Given the description of an element on the screen output the (x, y) to click on. 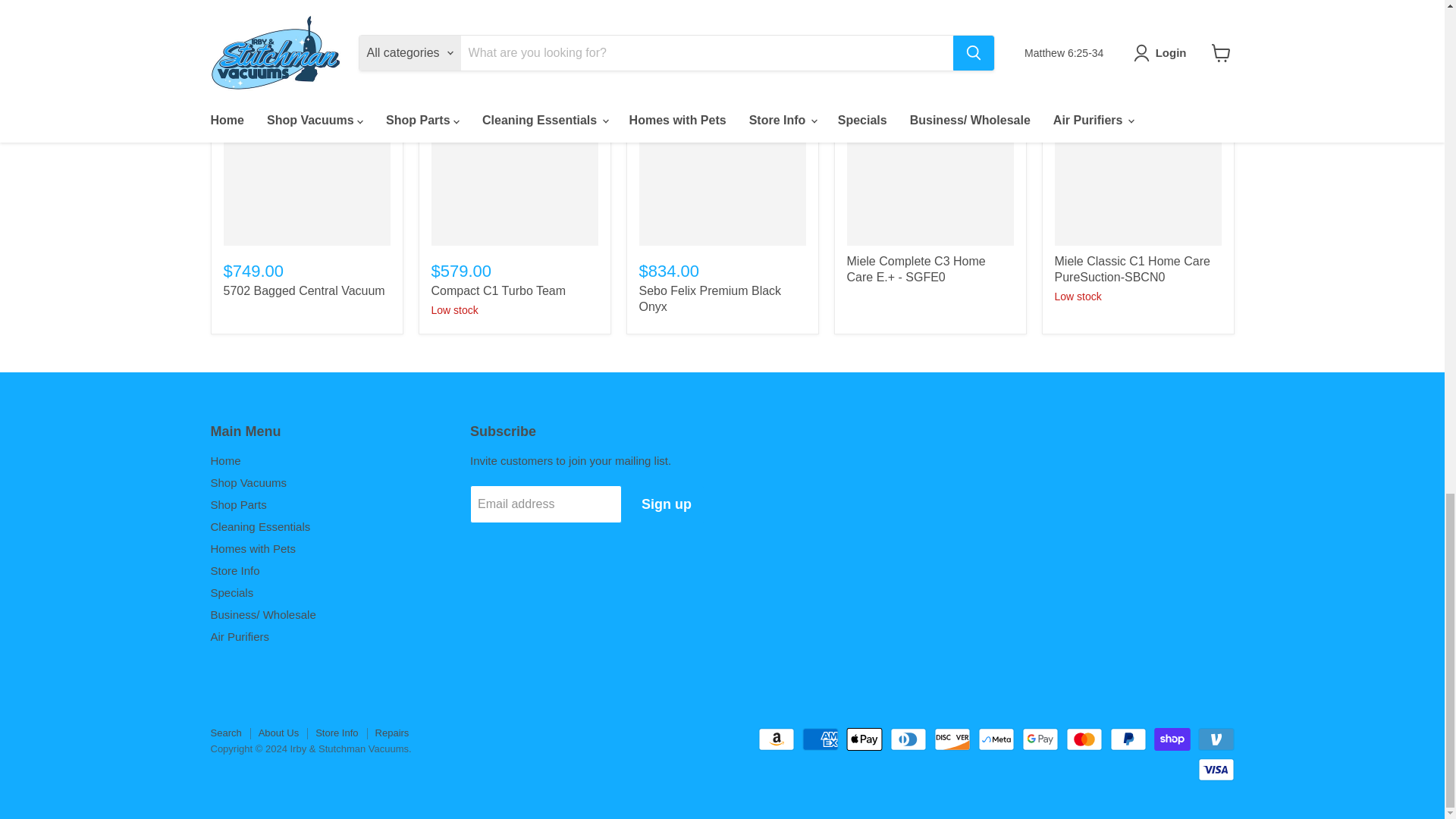
Apple Pay (863, 739)
Diners Club (907, 739)
Discover (952, 739)
American Express (820, 739)
Amazon (776, 739)
